Given the description of an element on the screen output the (x, y) to click on. 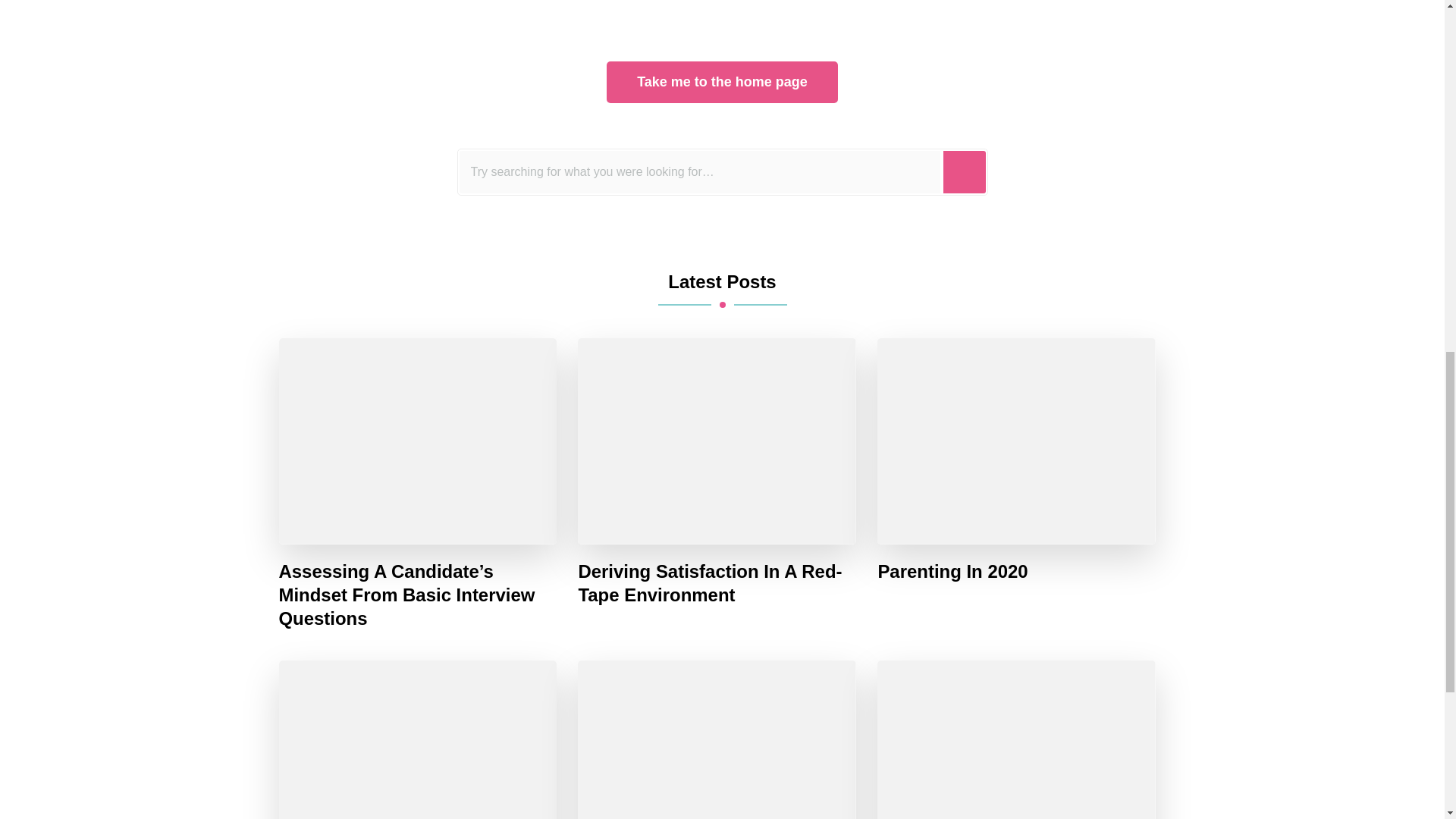
Search (964, 171)
Parenting In 2020 (952, 571)
Search (964, 171)
Take me to the home page (722, 82)
Deriving Satisfaction In A Red-Tape Environment (717, 582)
Search (964, 171)
